Given the description of an element on the screen output the (x, y) to click on. 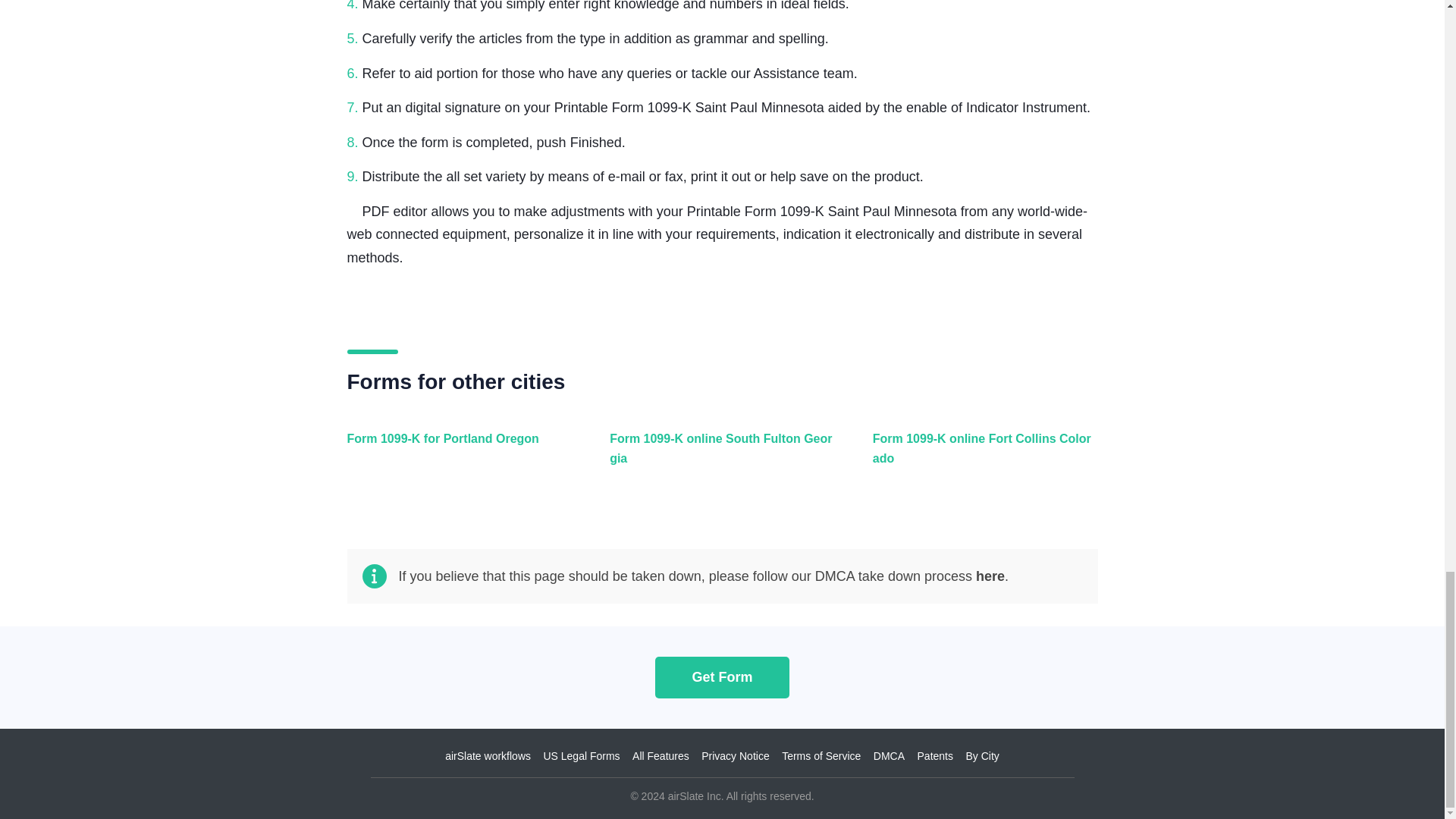
Patents (935, 756)
here (989, 575)
All Features (659, 756)
Form 1099-K online Fort Collins Colorado (981, 456)
Form 1099-K online South Fulton Georgia (718, 456)
By City (981, 756)
Get Form (722, 676)
airSlate workflows (488, 756)
US Legal Forms (581, 756)
DMCA (888, 756)
